Given the description of an element on the screen output the (x, y) to click on. 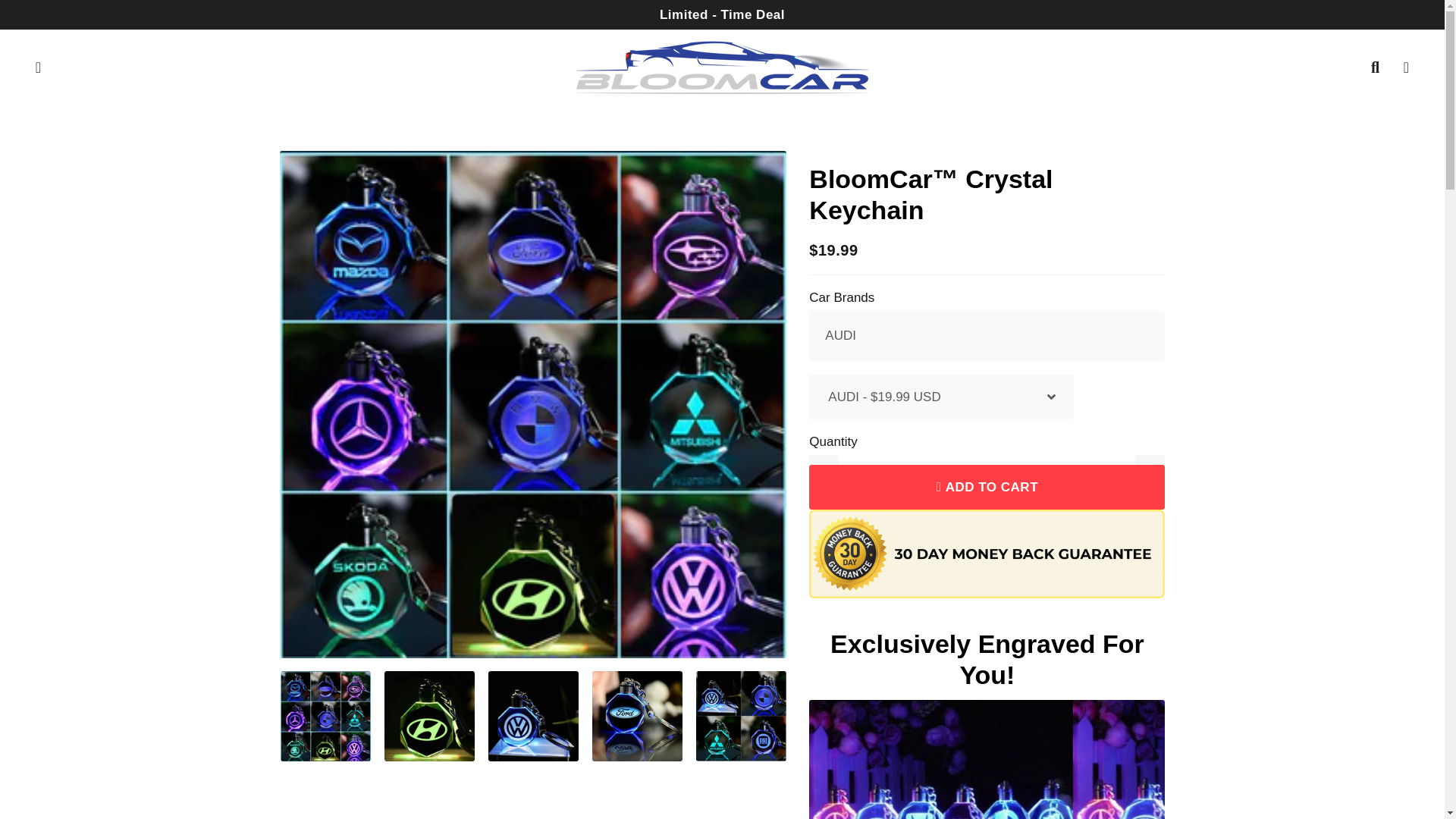
Menu (38, 67)
